Given the description of an element on the screen output the (x, y) to click on. 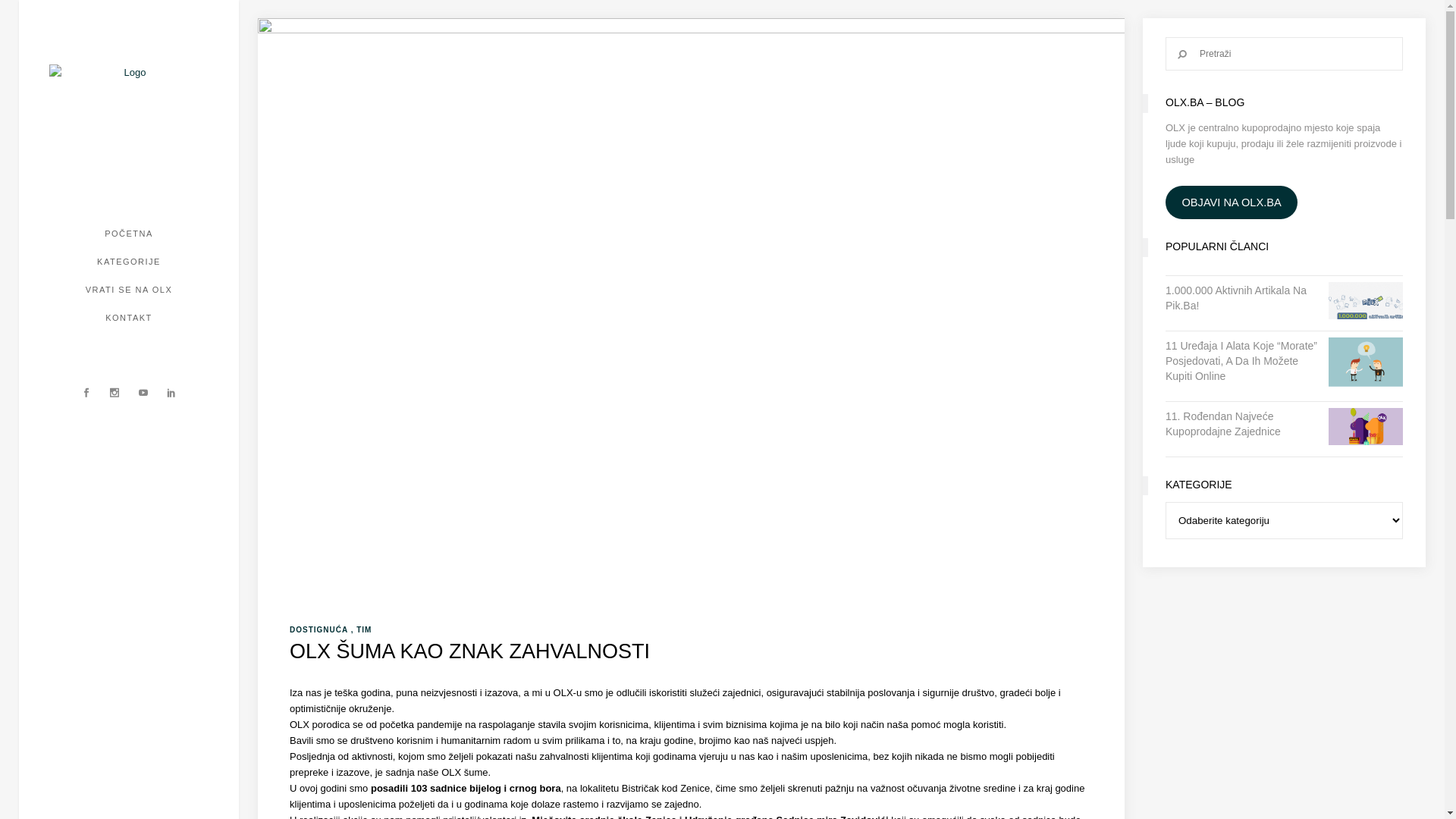
KATEGORIJE Element type: text (128, 261)
TIM Element type: text (363, 629)
1.000.000 Aktivnih Artikala Na Pik.Ba! Element type: text (1241, 297)
KONTAKT Element type: text (128, 318)
VRATI SE NA OLX Element type: text (128, 290)
OBJAVI NA OLX.BA Element type: text (1231, 202)
